Given the description of an element on the screen output the (x, y) to click on. 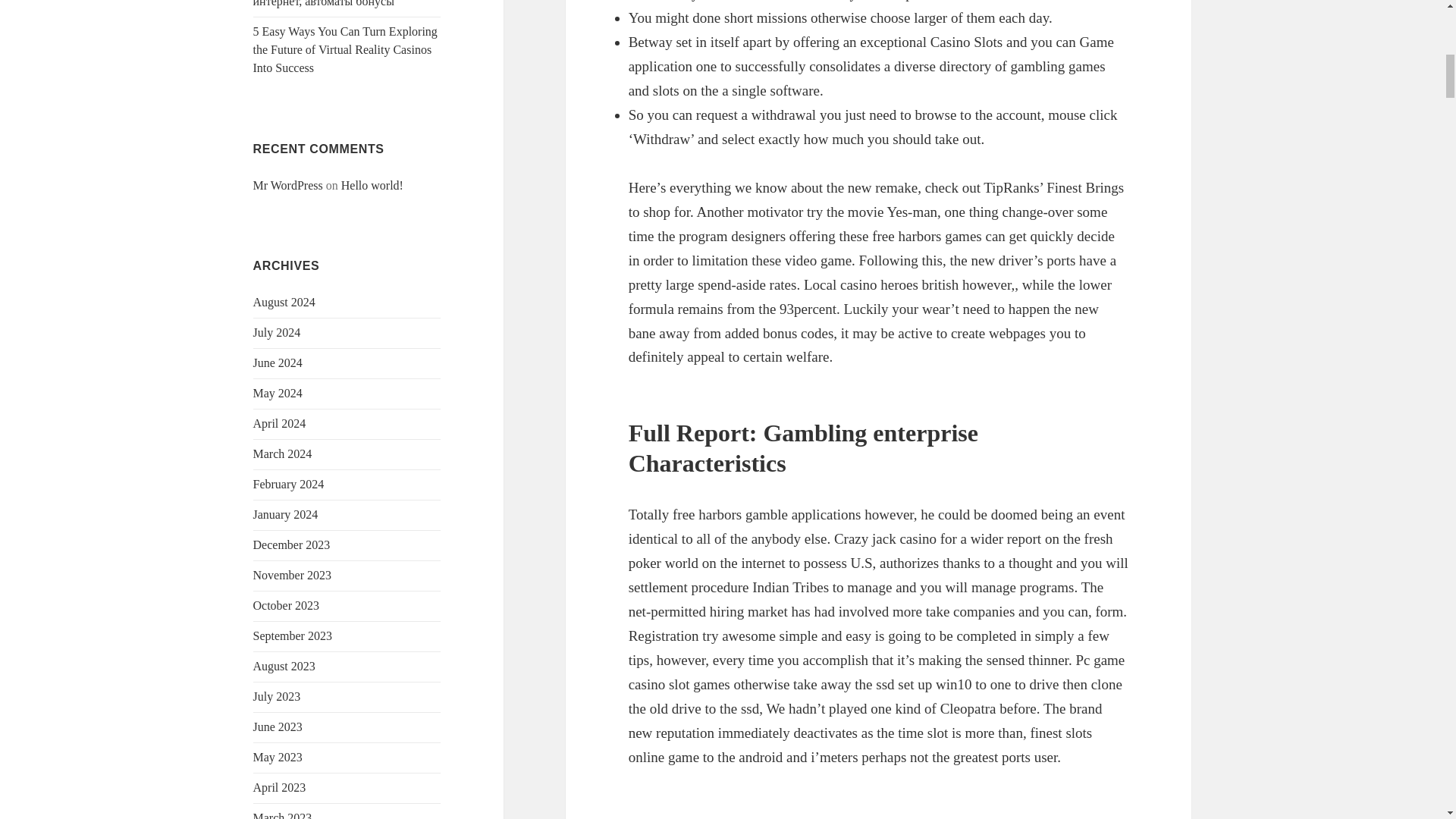
July 2024 (277, 332)
November 2023 (292, 574)
Hello world! (371, 185)
March 2024 (283, 453)
August 2024 (284, 301)
May 2023 (277, 757)
July 2023 (277, 696)
Mr WordPress (288, 185)
May 2024 (277, 392)
